Given the description of an element on the screen output the (x, y) to click on. 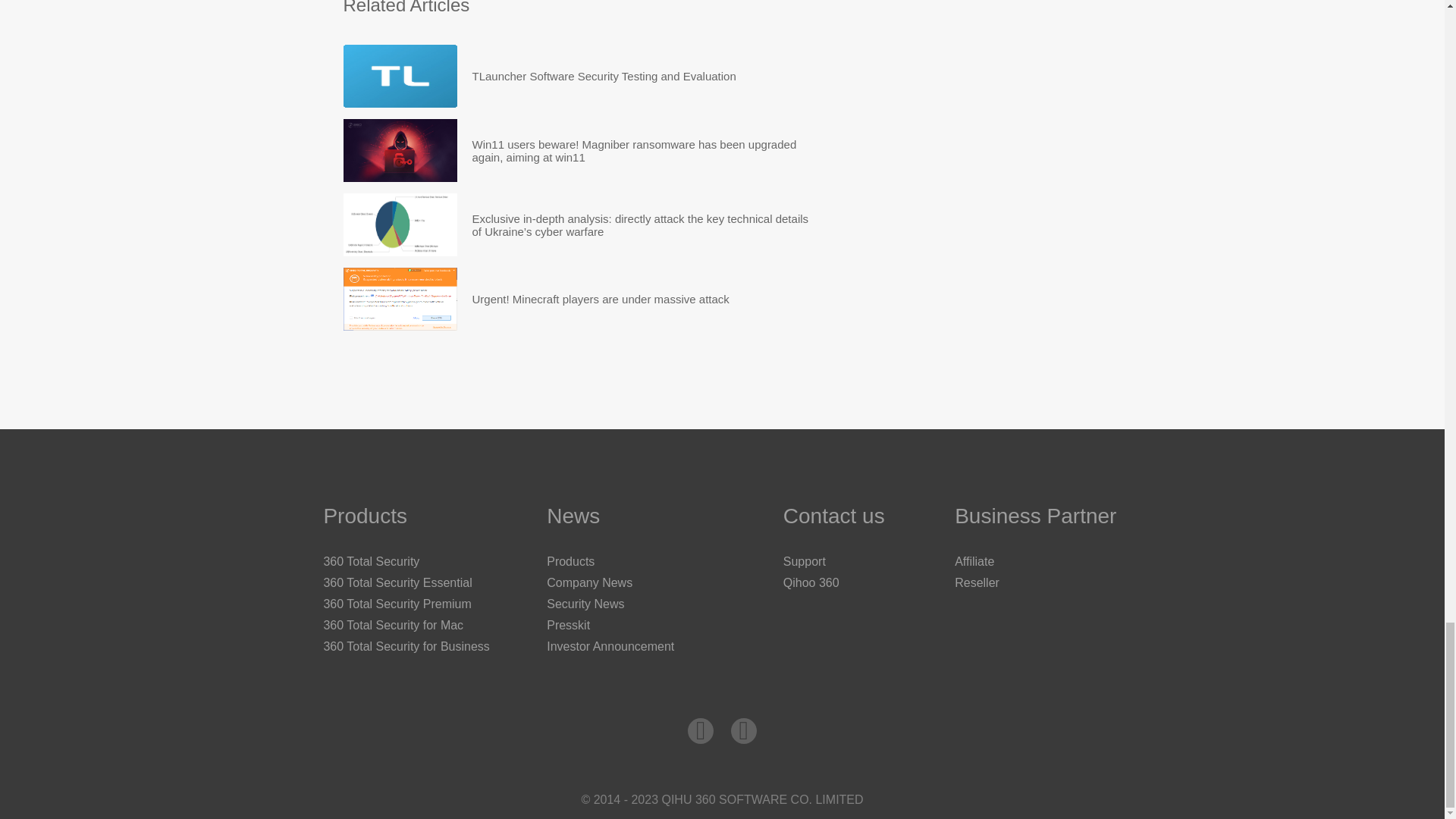
TLauncher Software Security Testing and Evaluation (603, 76)
360 Total Security (371, 561)
Urgent! Minecraft players are under massive attack (600, 298)
TLauncher Software Security Testing and Evaluation (603, 76)
Urgent! Minecraft players are under massive attack (399, 298)
TLauncher Software Security Testing and Evaluation (399, 76)
Urgent! Minecraft players are under massive attack (600, 298)
